Given the description of an element on the screen output the (x, y) to click on. 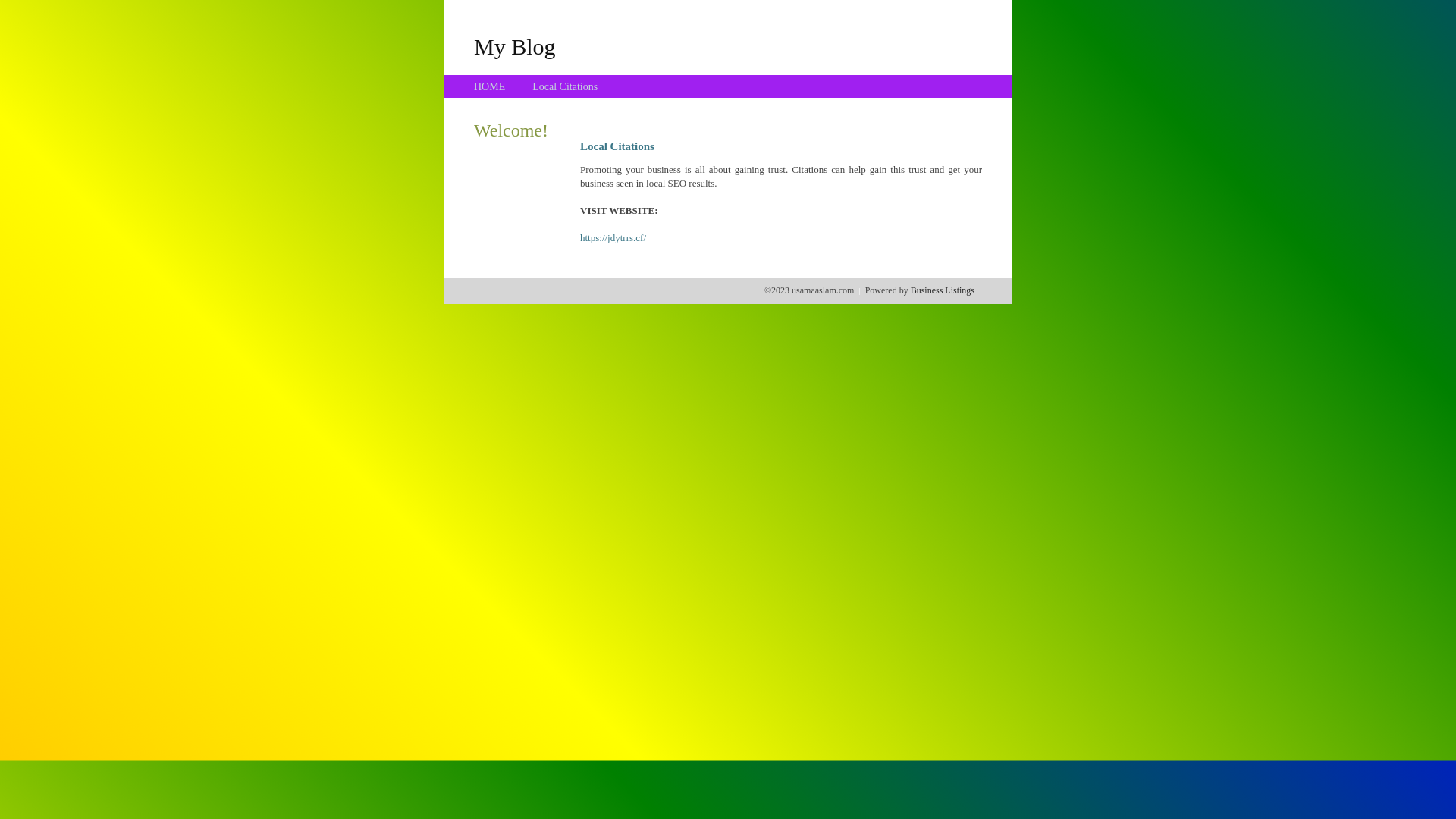
Local Citations Element type: text (564, 86)
https://jdytrrs.cf/ Element type: text (613, 237)
Business Listings Element type: text (942, 290)
My Blog Element type: text (514, 46)
HOME Element type: text (489, 86)
